Given the description of an element on the screen output the (x, y) to click on. 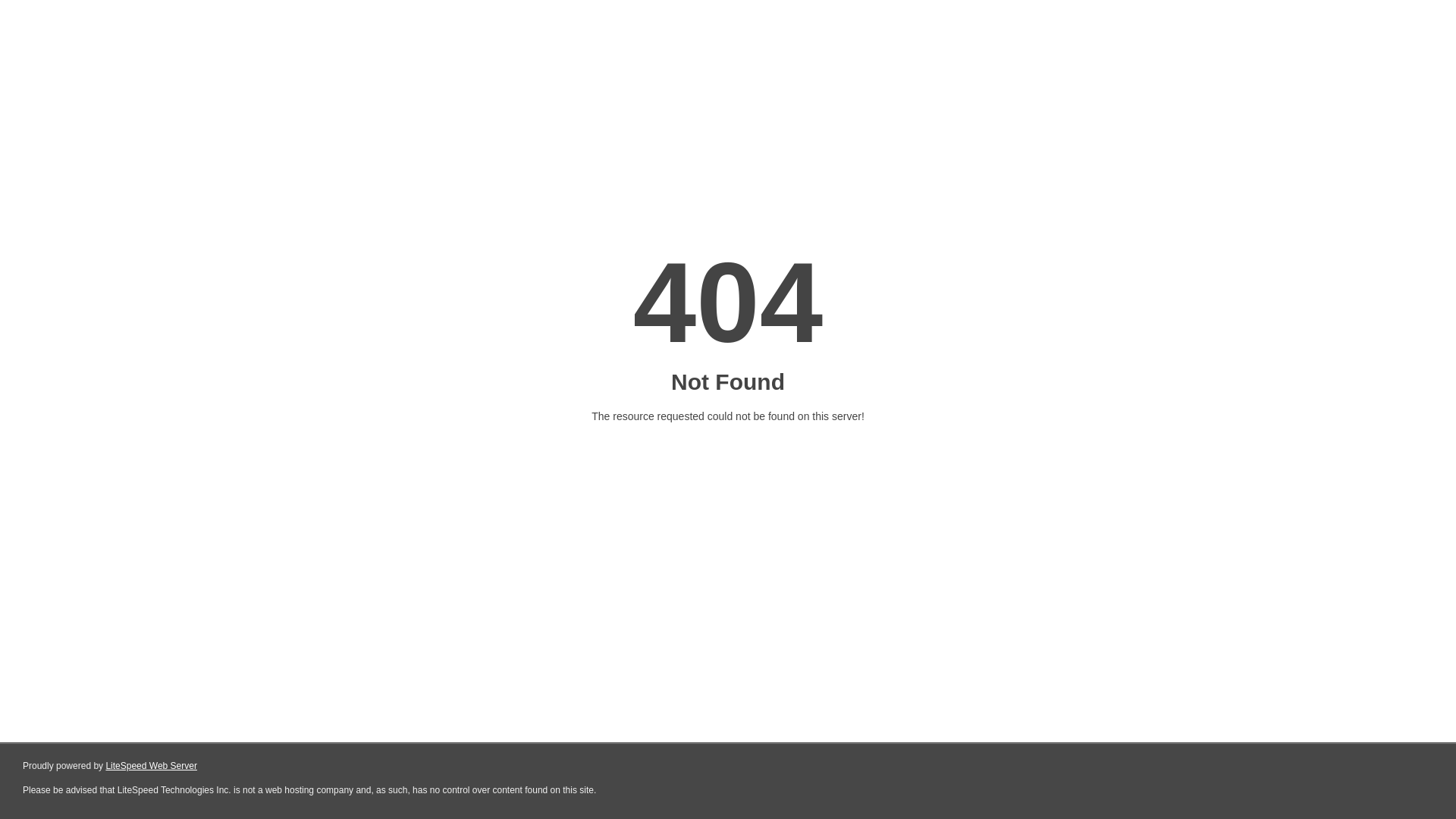
LiteSpeed Web Server Element type: text (151, 765)
